Given the description of an element on the screen output the (x, y) to click on. 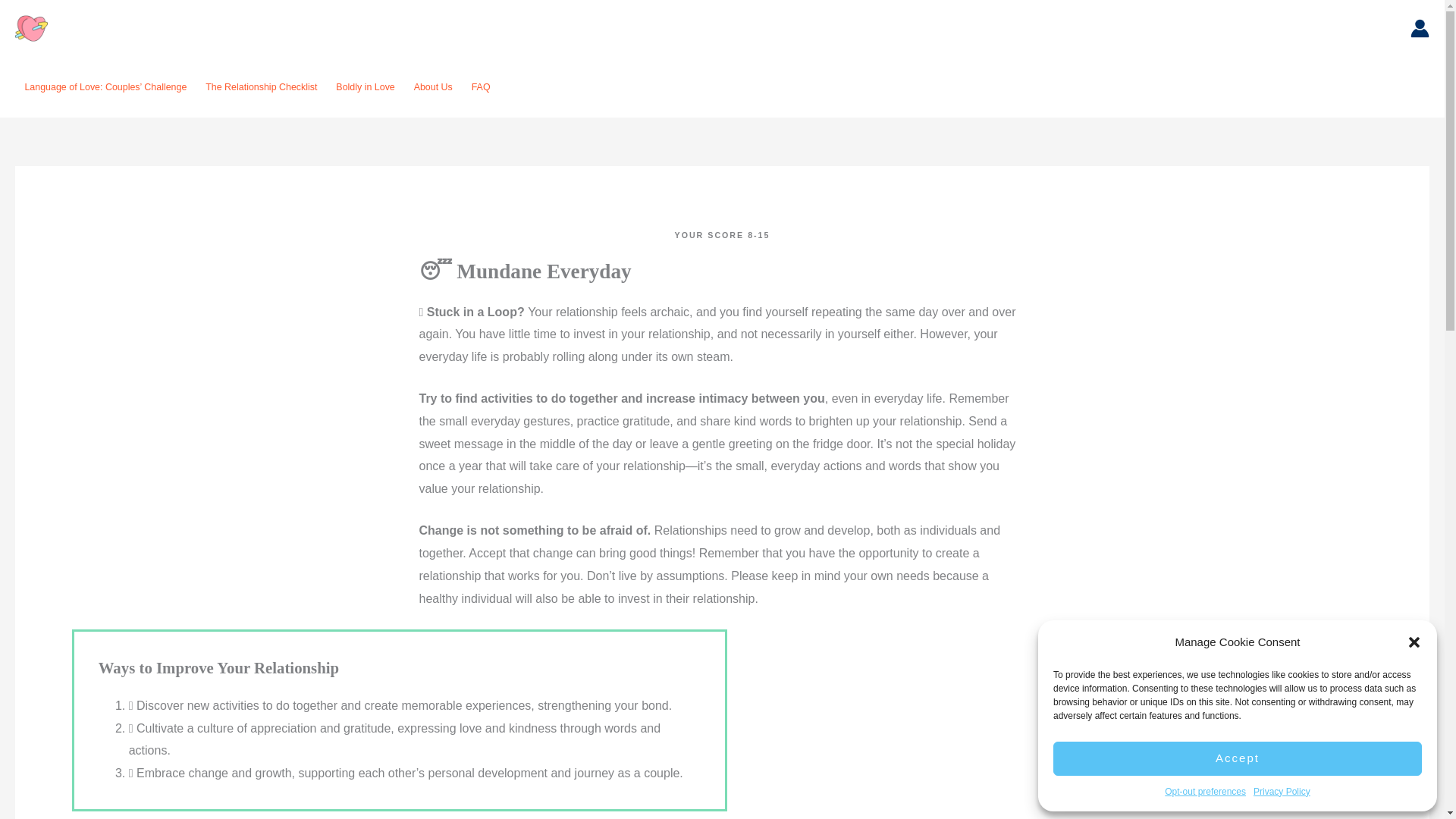
Accept (1237, 758)
Opt-out preferences (1205, 791)
Privacy Policy (1281, 791)
The Relationship Checklist (261, 86)
About Us (432, 86)
Boldly in Love (365, 86)
